Given the description of an element on the screen output the (x, y) to click on. 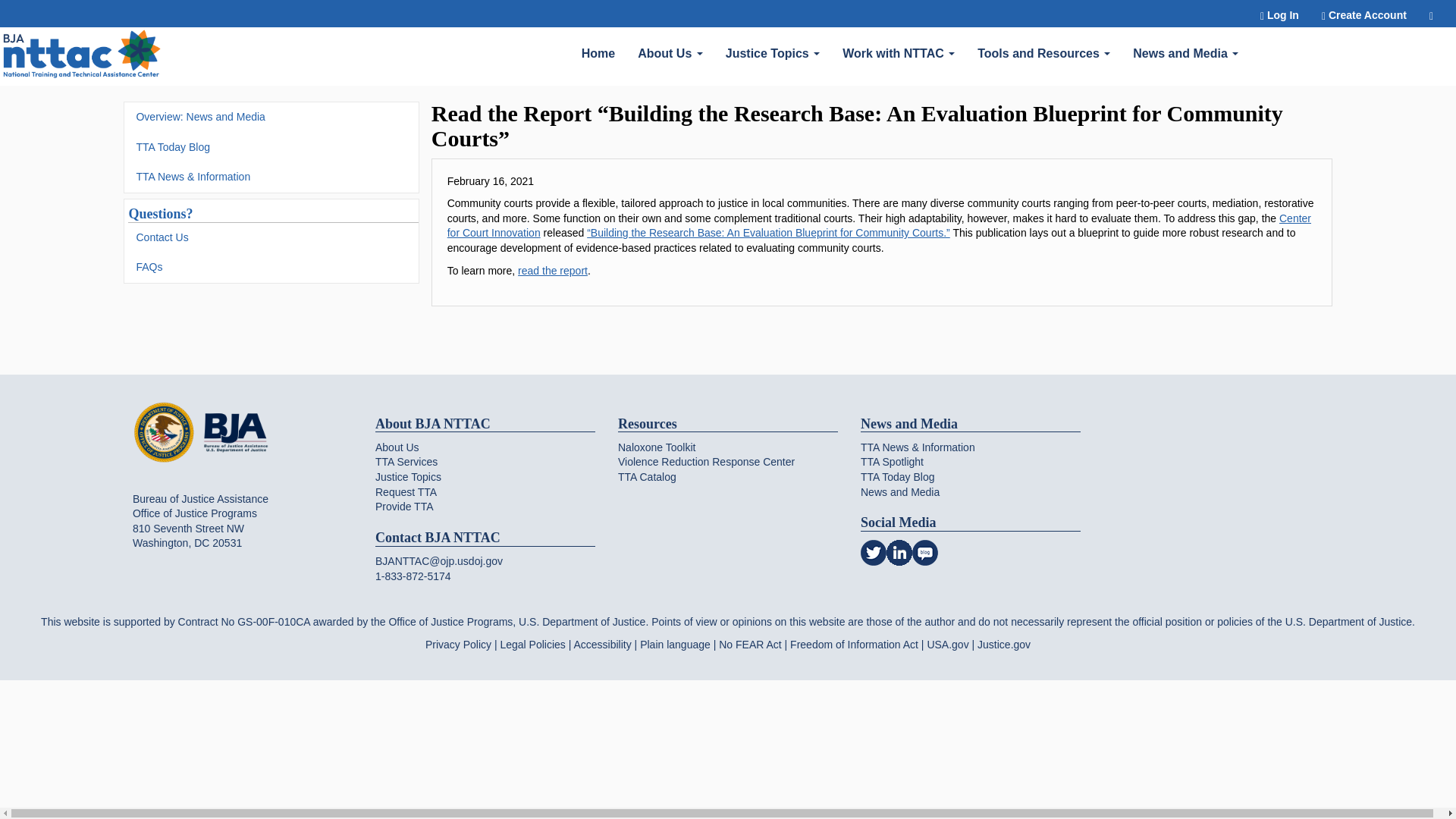
About Us (670, 52)
Justice Topics (772, 52)
Tools and Resources (1043, 52)
Create Account (1364, 13)
Navigate to Working with BJA NTTAC (81, 56)
Search (1431, 13)
Home (598, 52)
Work with NTTAC (898, 52)
Site logo linked to front page of BJA NTTAC (81, 56)
Register for Account (1364, 13)
Log In (1279, 13)
Overview (670, 52)
News and Media (1185, 52)
